Given the description of an element on the screen output the (x, y) to click on. 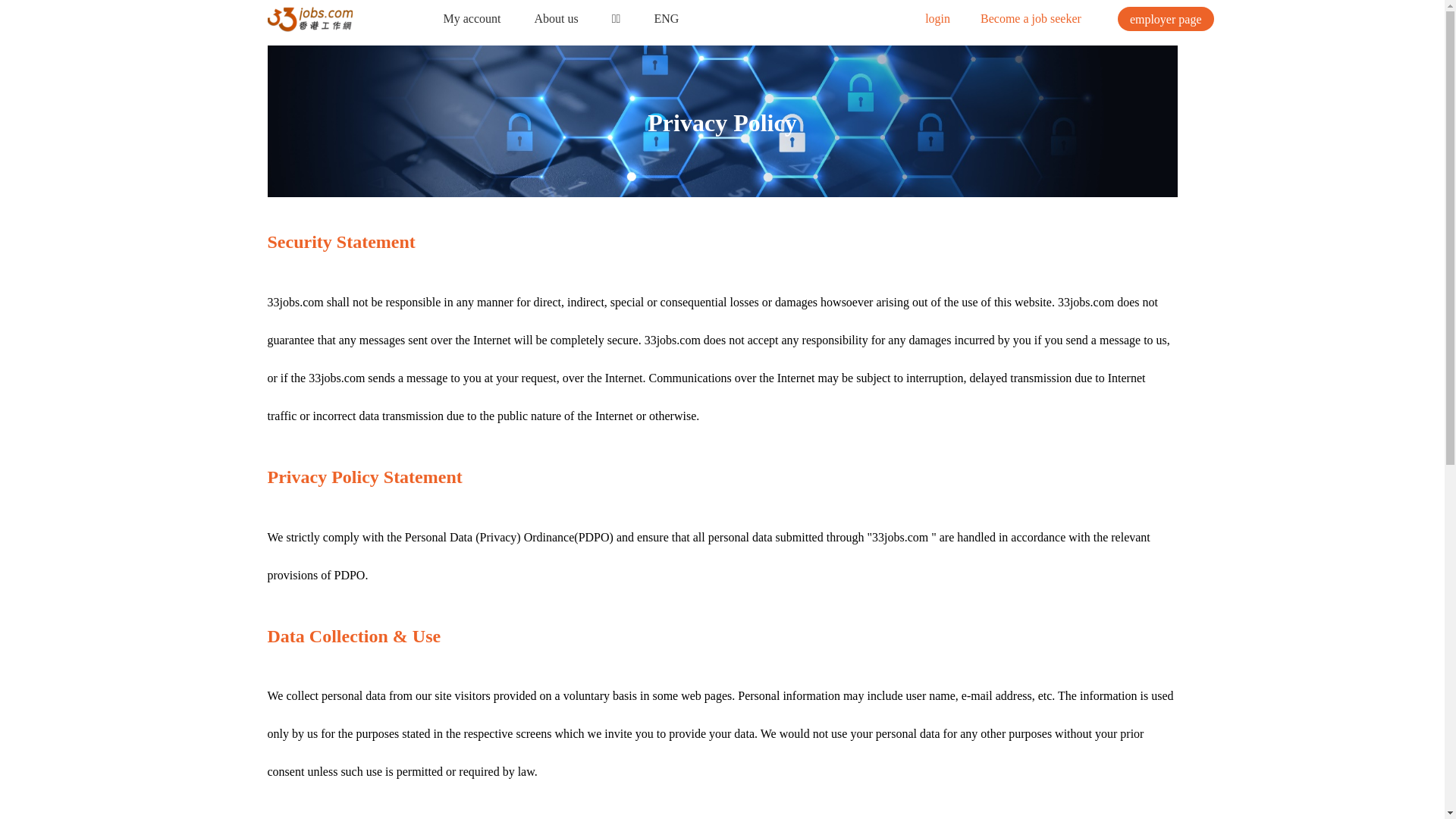
Become a job seeker Element type: text (1030, 18)
login Element type: text (939, 18)
My account Element type: text (472, 18)
ENG Element type: text (665, 18)
employer page Element type: text (1165, 18)
About us Element type: text (555, 18)
